Given the description of an element on the screen output the (x, y) to click on. 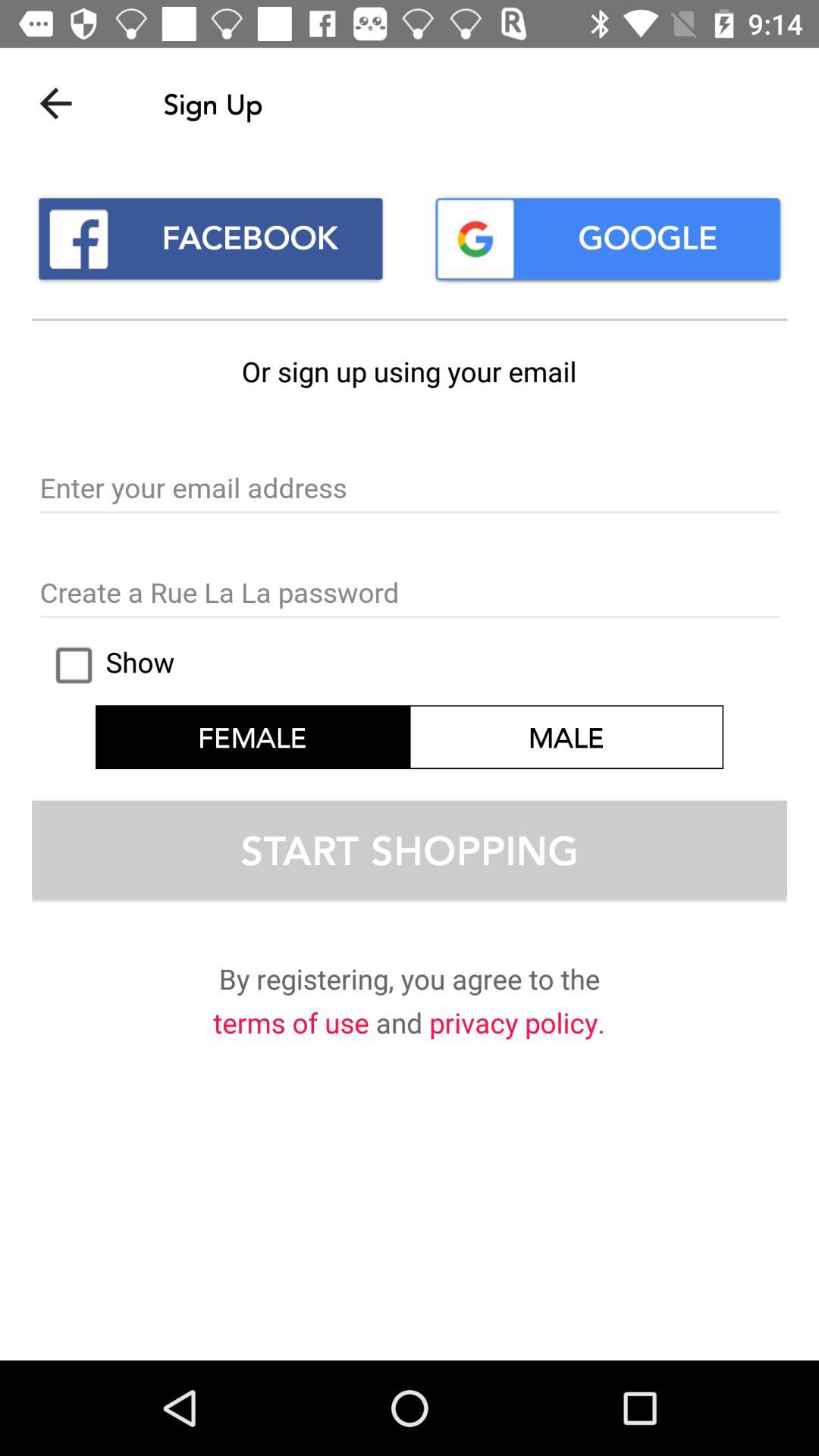
press show icon (108, 665)
